Given the description of an element on the screen output the (x, y) to click on. 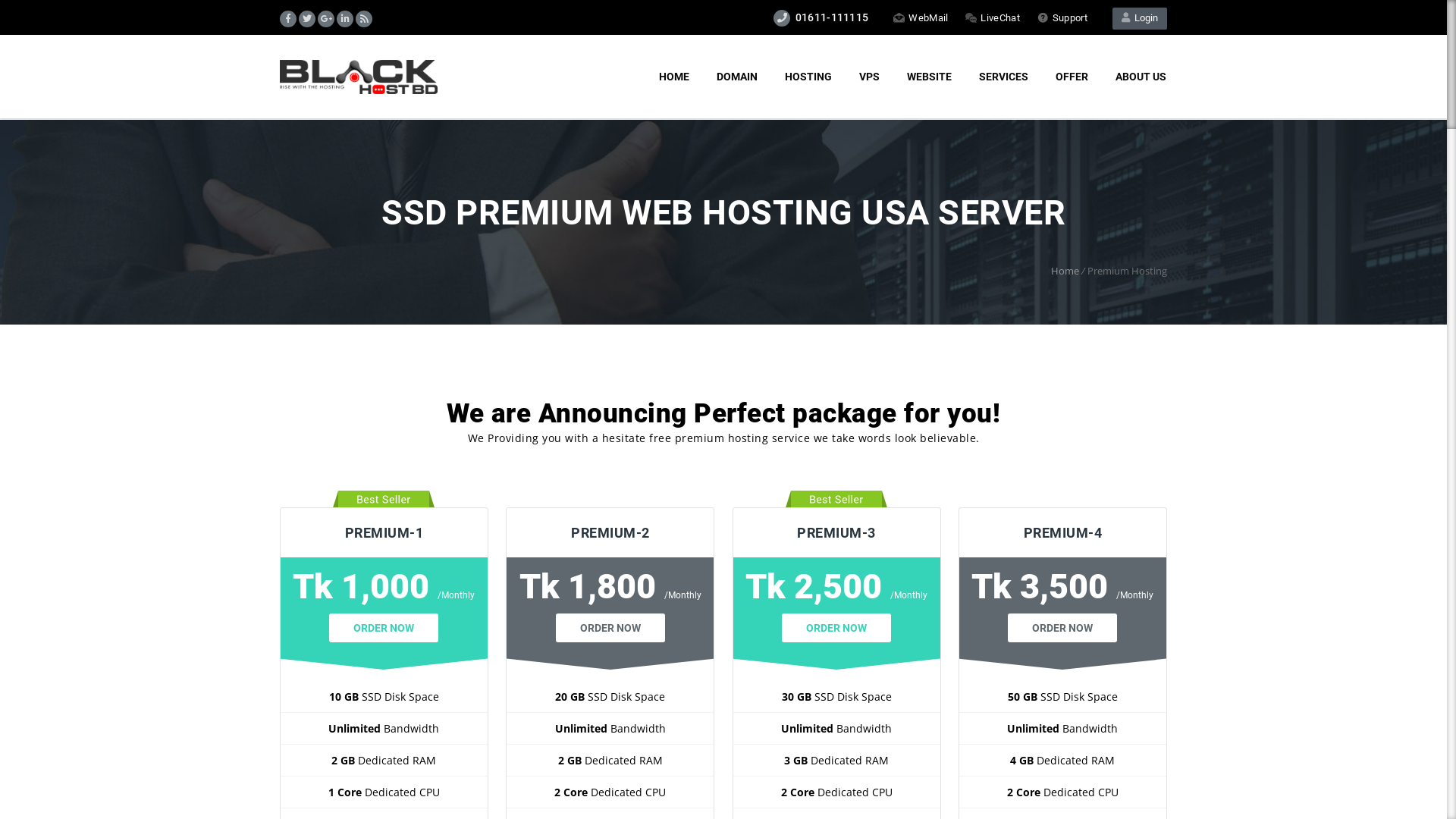
Home Element type: text (1065, 270)
  Login Element type: text (1139, 18)
ORDER NOW Element type: text (1062, 627)
DOMAIN Element type: text (736, 76)
HOME Element type: text (673, 76)
ORDER NOW Element type: text (836, 627)
ORDER NOW Element type: text (383, 627)
ABOUT US Element type: text (1140, 76)
WebMail Element type: text (920, 17)
VPS Element type: text (869, 76)
HOSTING Element type: text (808, 76)
WEBSITE Element type: text (929, 76)
LiveChat Element type: text (992, 17)
Support Element type: text (1062, 17)
ORDER NOW Element type: text (610, 627)
OFFER Element type: text (1071, 76)
SERVICES Element type: text (1003, 76)
